Given the description of an element on the screen output the (x, y) to click on. 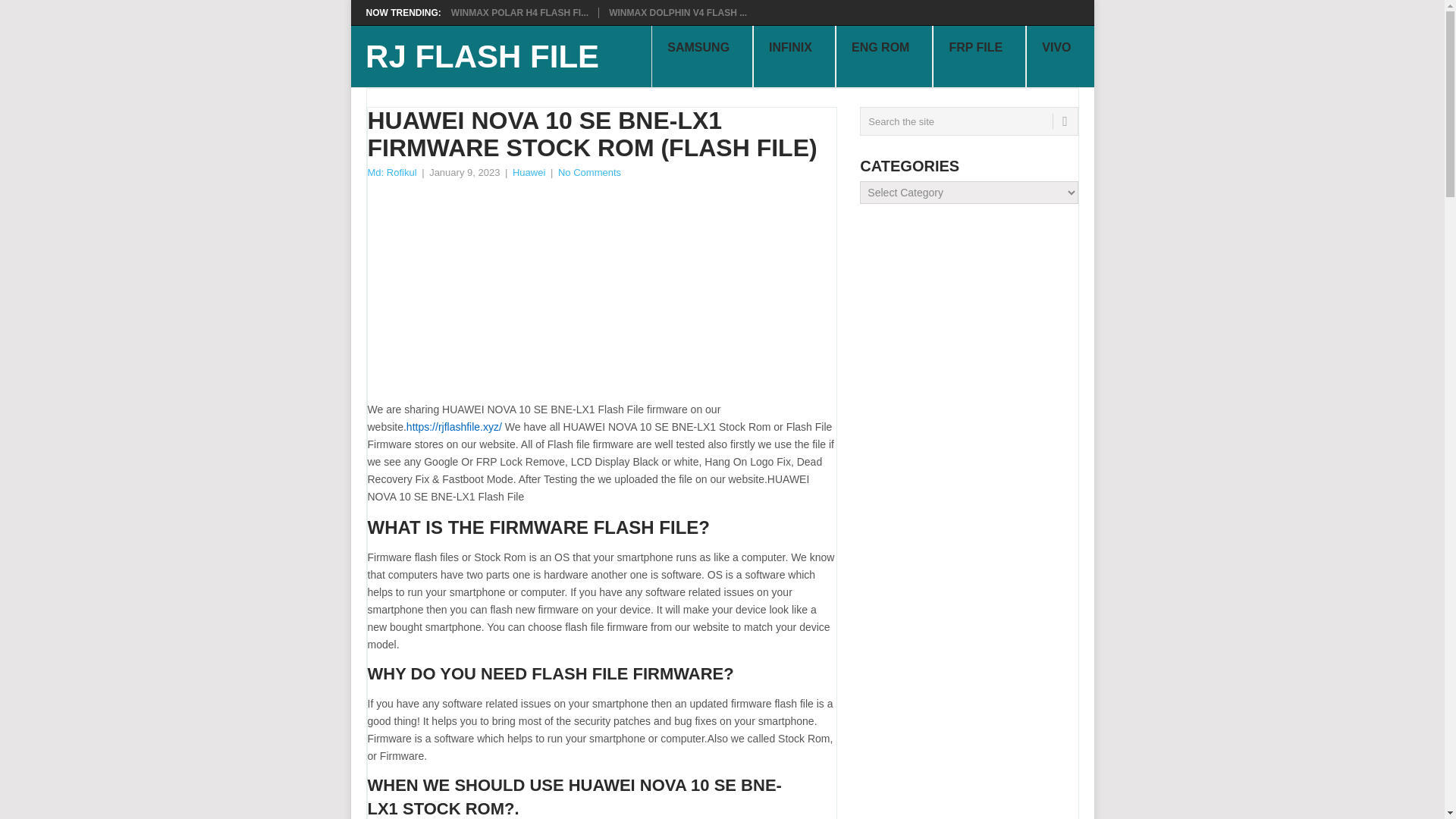
WINMAX POLAR H4 FLASH FI... (519, 12)
VIVO (1059, 56)
Huawei (528, 172)
ENG ROM (884, 56)
Md: Rofikul (391, 172)
Search the site (968, 121)
FRP FILE (979, 56)
No Comments (589, 172)
Posts by Md: Rofikul (391, 172)
Advertisement (600, 295)
WINMAX DOLPHIN V4 FLASH ... (677, 12)
INFINIX (793, 56)
SAMSUNG (701, 56)
RJ FLASH FILE (481, 56)
